Given the description of an element on the screen output the (x, y) to click on. 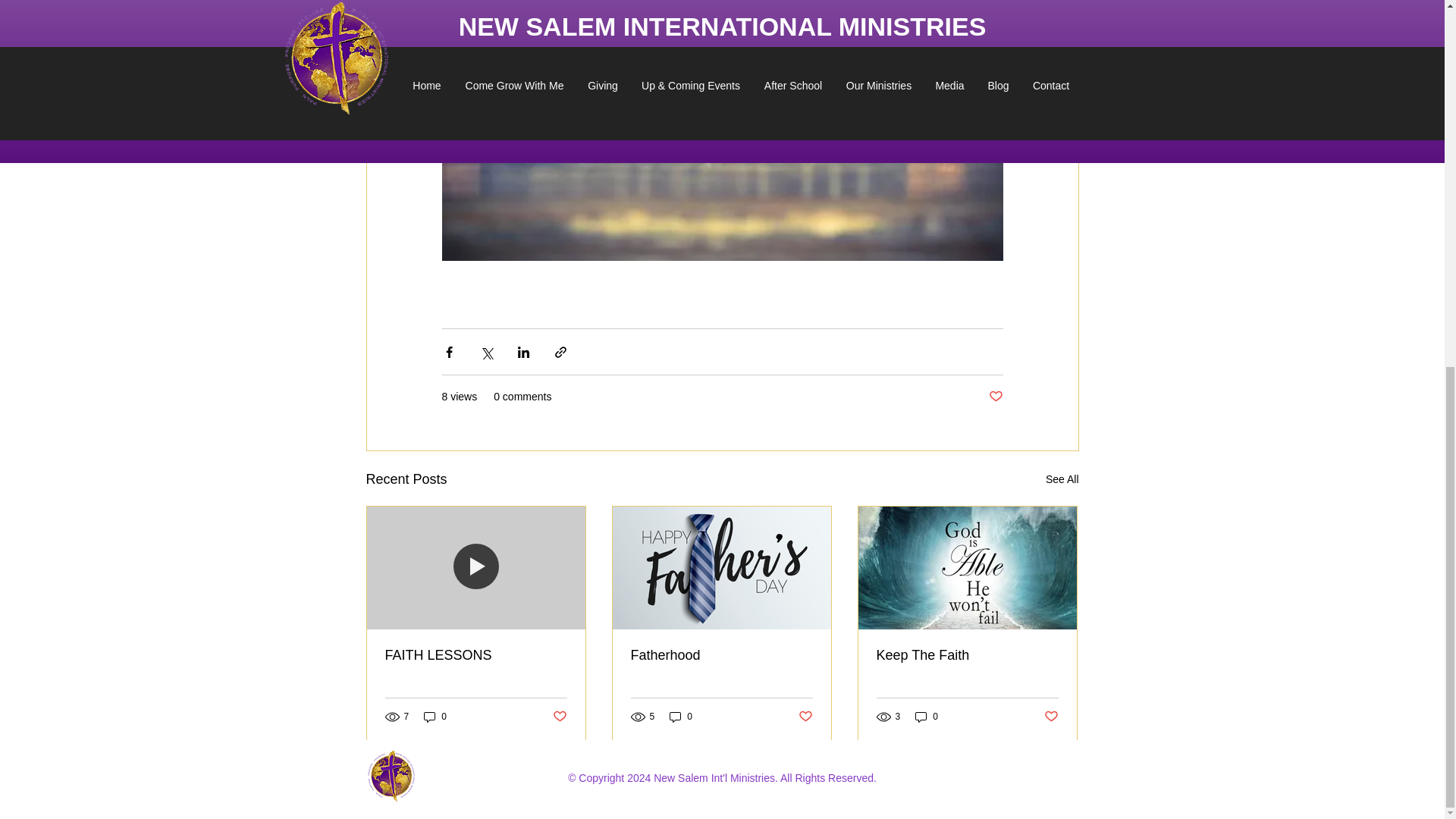
0 (435, 716)
0 (681, 716)
Post not marked as liked (1050, 716)
Post not marked as liked (804, 716)
Post not marked as liked (995, 396)
0 (926, 716)
Keep The Faith (967, 655)
Fatherhood (721, 655)
Post not marked as liked (558, 716)
See All (1061, 479)
FAITH LESSONS (476, 655)
